Given the description of an element on the screen output the (x, y) to click on. 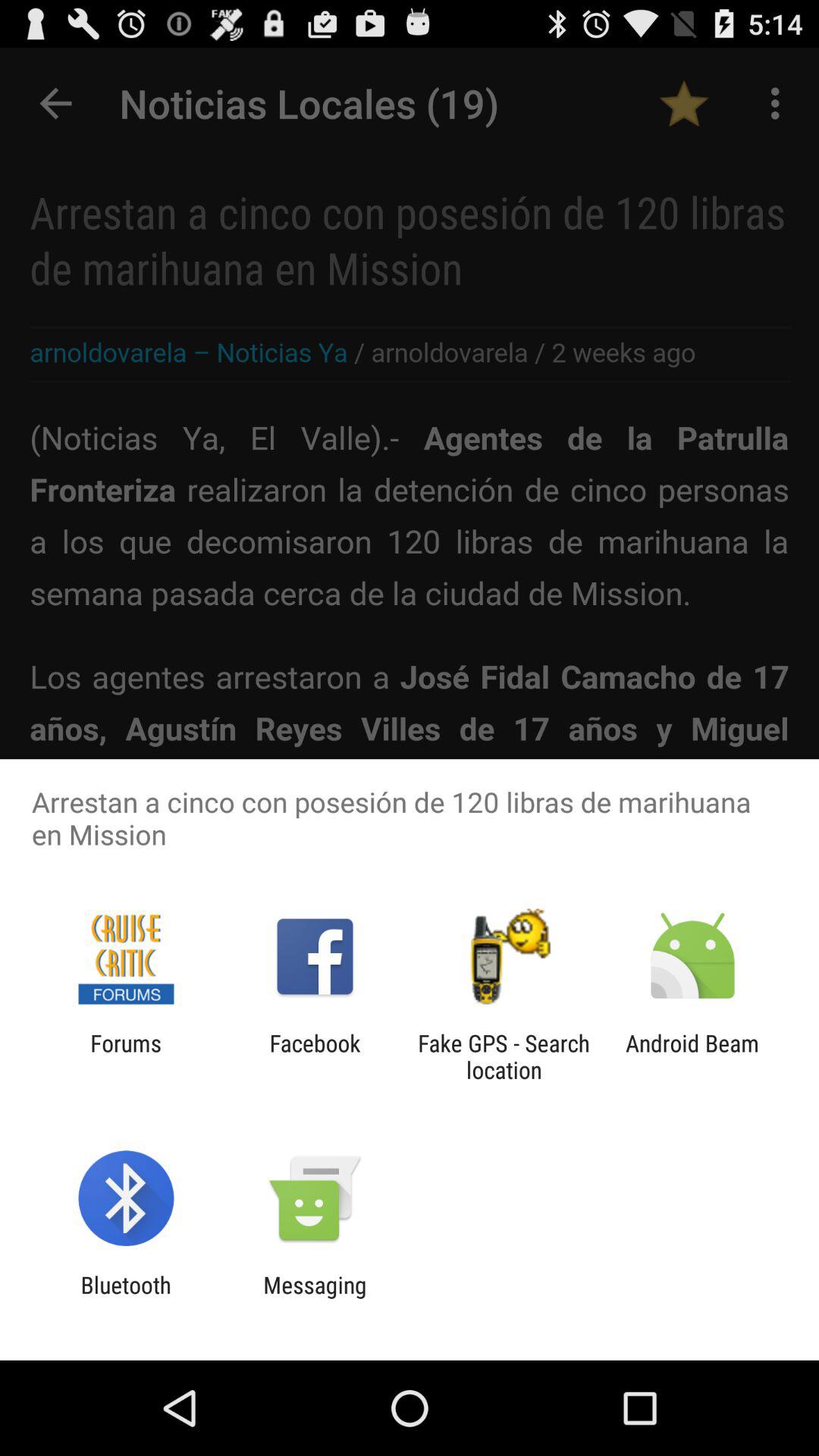
press the android beam item (692, 1056)
